Given the description of an element on the screen output the (x, y) to click on. 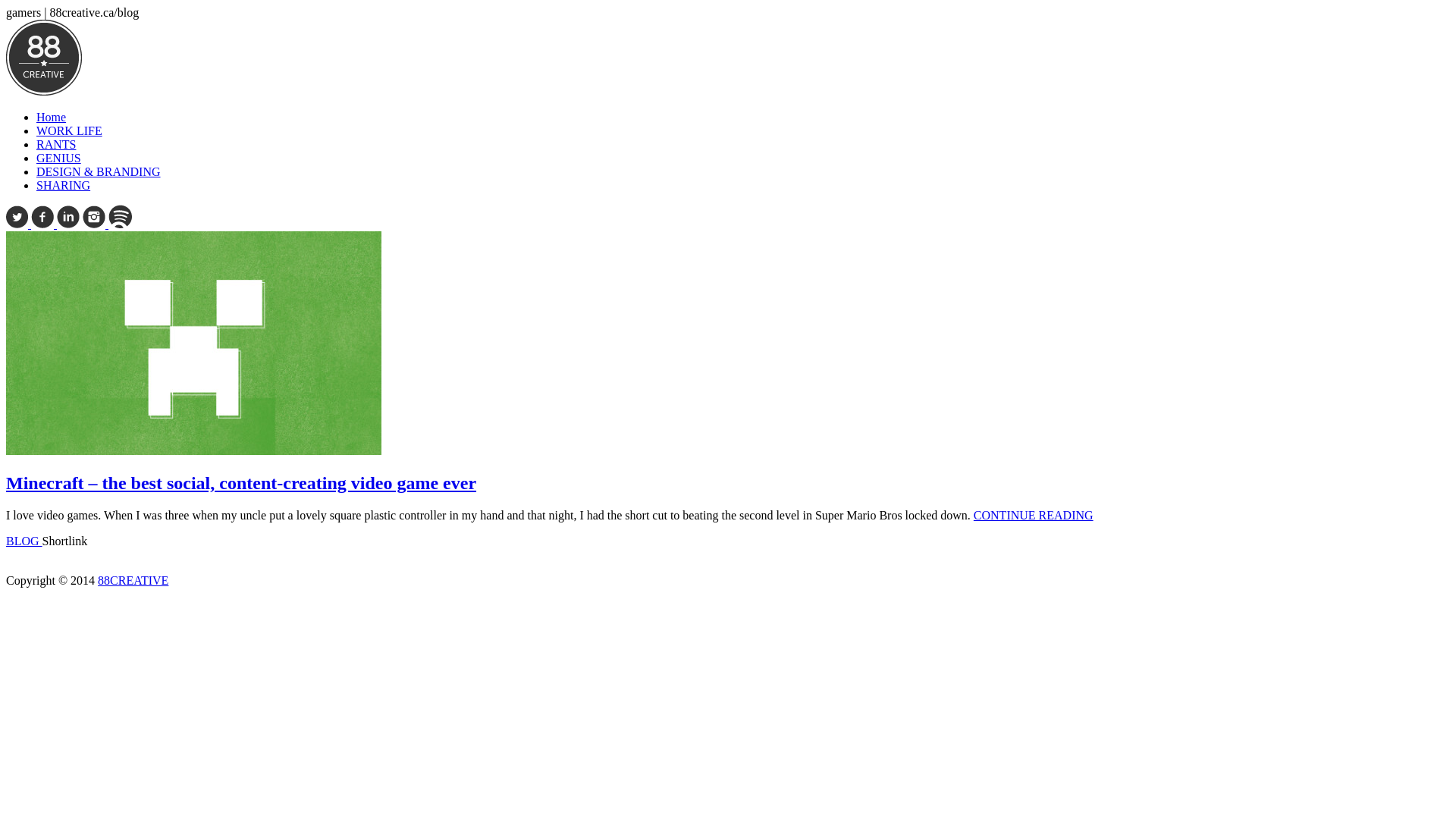
88creative.ca/blog Element type: hover (43, 57)
RANTS Element type: text (55, 144)
WORK LIFE Element type: text (69, 130)
SHARING Element type: text (63, 184)
88creative.ca/blog Element type: hover (43, 90)
CONTINUE READING Element type: text (1033, 514)
Home Element type: text (50, 116)
88CREATIVE Element type: text (132, 580)
GENIUS Element type: text (58, 157)
BLOG Element type: text (24, 540)
DESIGN & BRANDING Element type: text (98, 171)
